Given the description of an element on the screen output the (x, y) to click on. 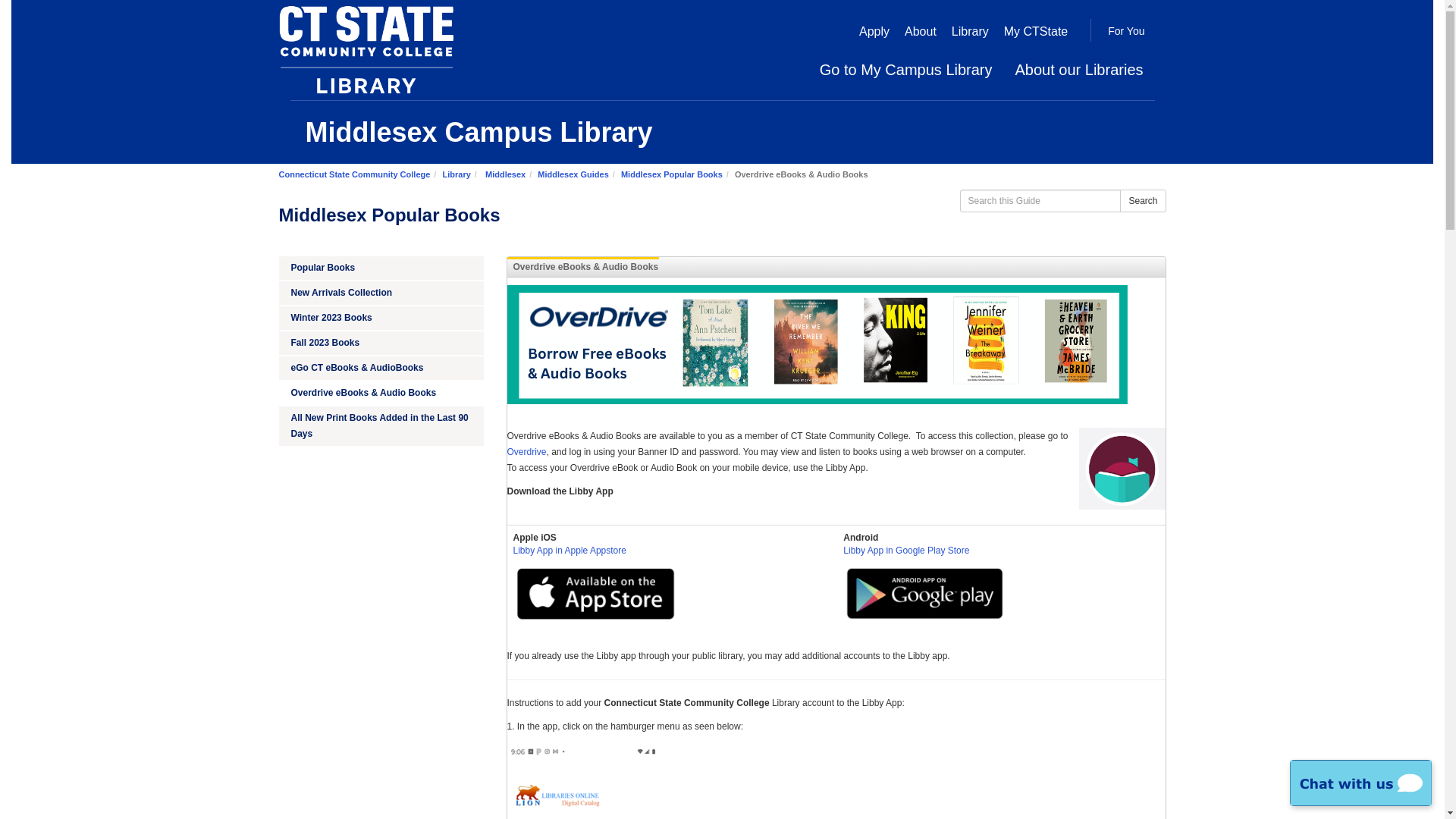
Middlesex Guides (572, 174)
New arrivals in the Popular Books Collection, Fall 2023. (381, 342)
Library (456, 174)
Offline (1360, 782)
About (920, 31)
For You (1125, 31)
Apply (874, 31)
Go to My Campus Library (906, 69)
About our Libraries (1079, 69)
Library (970, 31)
Middlesex (504, 174)
